Given the description of an element on the screen output the (x, y) to click on. 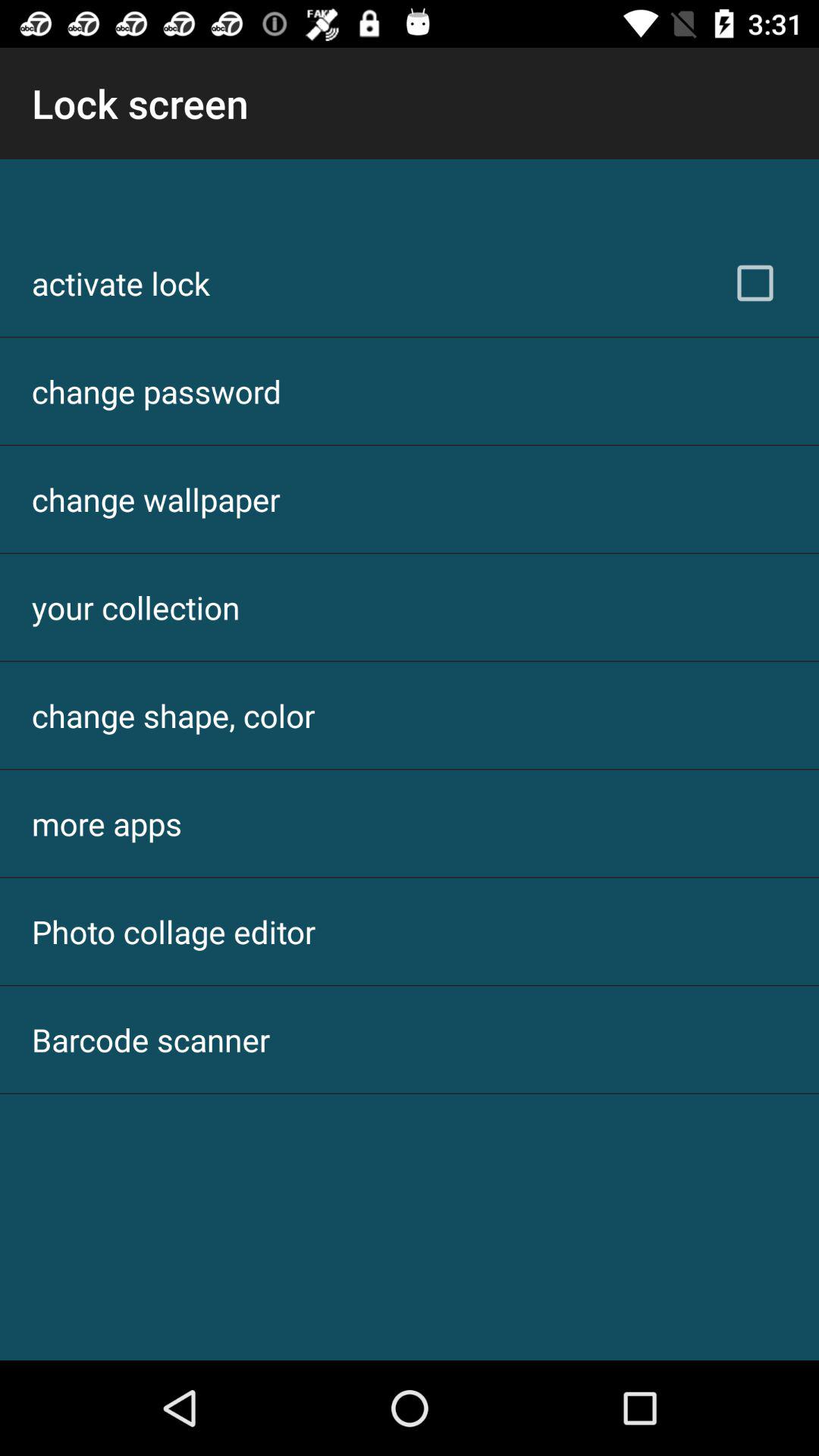
swipe until the change password icon (156, 390)
